Given the description of an element on the screen output the (x, y) to click on. 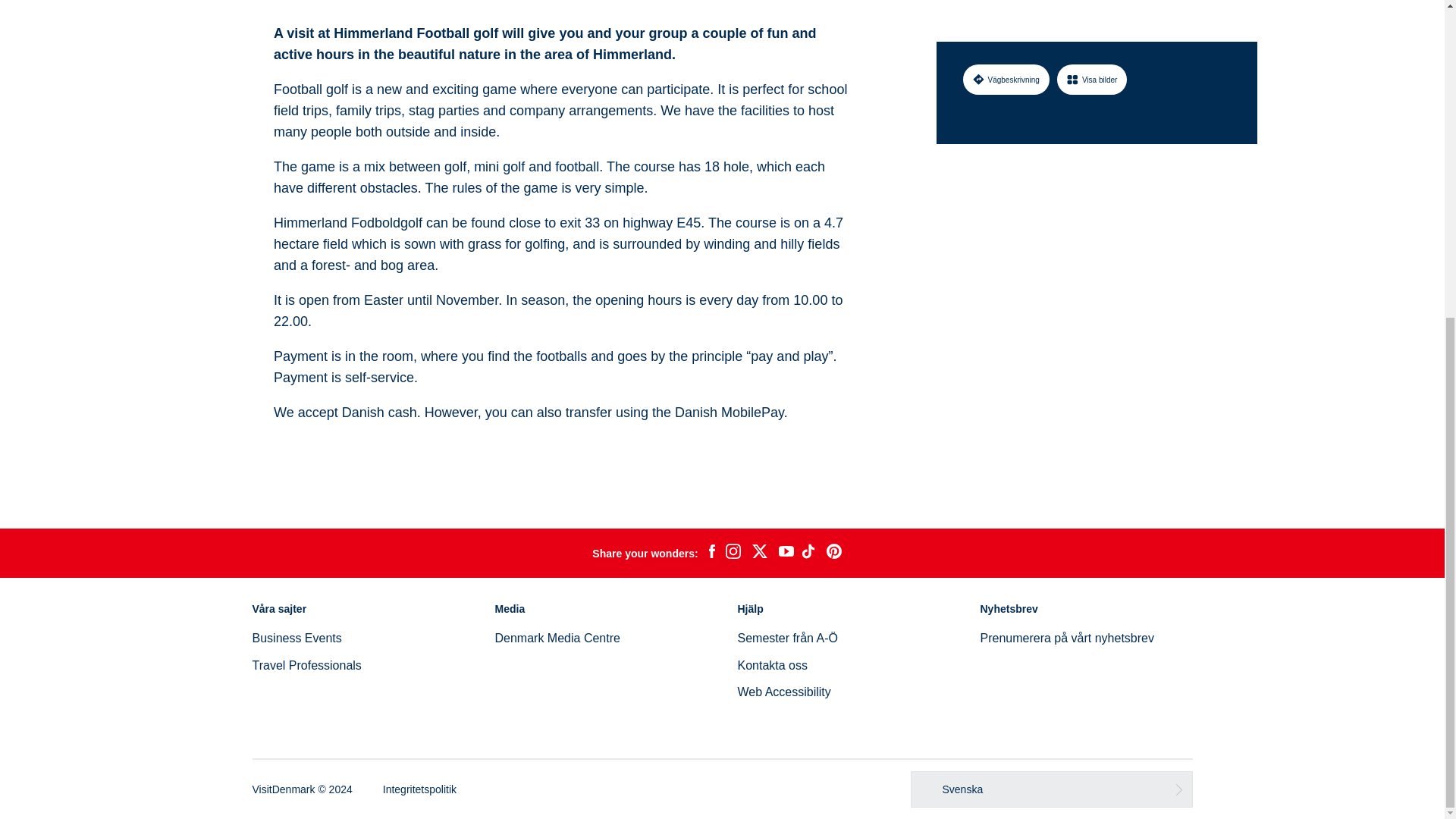
Business Events (295, 637)
Denmark Media Centre (557, 637)
facebook (711, 553)
youtube (786, 553)
Travel Professionals (306, 665)
pinterest (834, 553)
twitter (759, 553)
Denmark Media Centre (557, 637)
Integritetspolitik (419, 789)
Web Accessibility (782, 691)
